Given the description of an element on the screen output the (x, y) to click on. 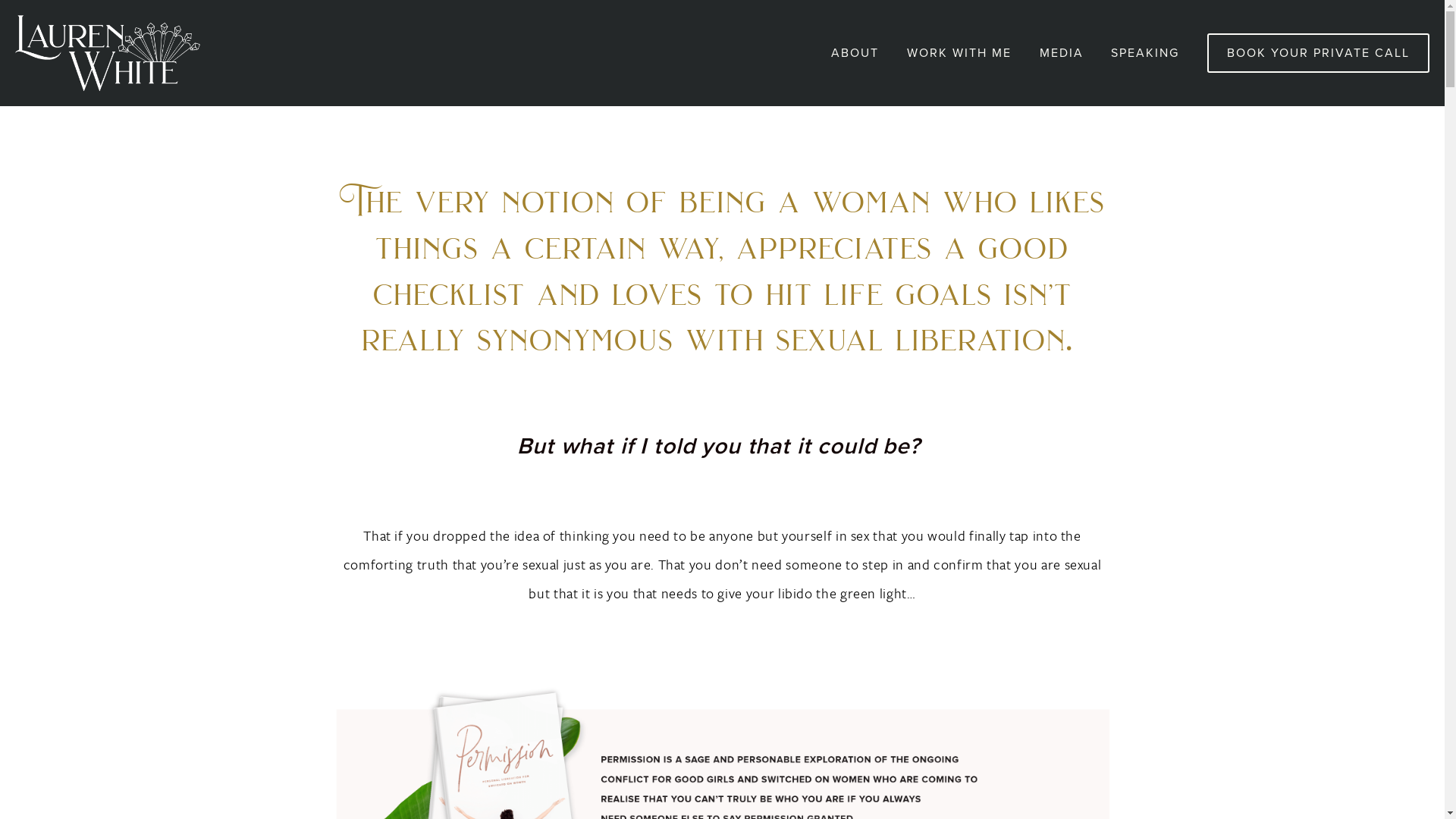
WORK WITH ME Element type: text (958, 52)
SPEAKING Element type: text (1144, 52)
ABOUT Element type: text (855, 52)
BOOK YOUR PRIVATE CALL Element type: text (1318, 52)
